Given the description of an element on the screen output the (x, y) to click on. 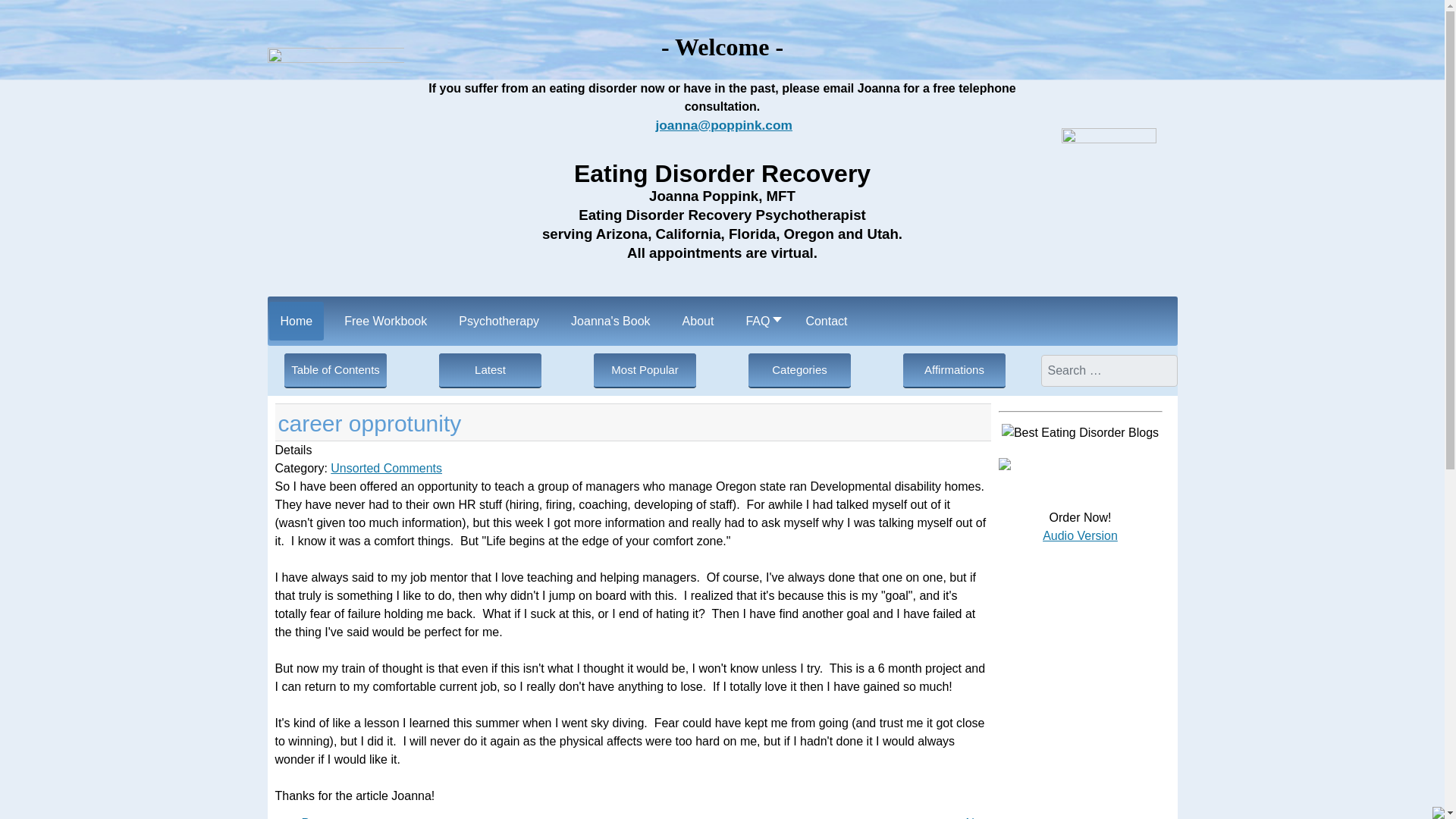
Psychotherapy (498, 321)
Free Workbook (385, 321)
About (698, 321)
Affirmations (954, 370)
FAQ (758, 321)
Most Popular (644, 370)
Latest (490, 370)
Joanna's Book (610, 321)
Thanks Joanna (978, 817)
Home (295, 321)
